Given the description of an element on the screen output the (x, y) to click on. 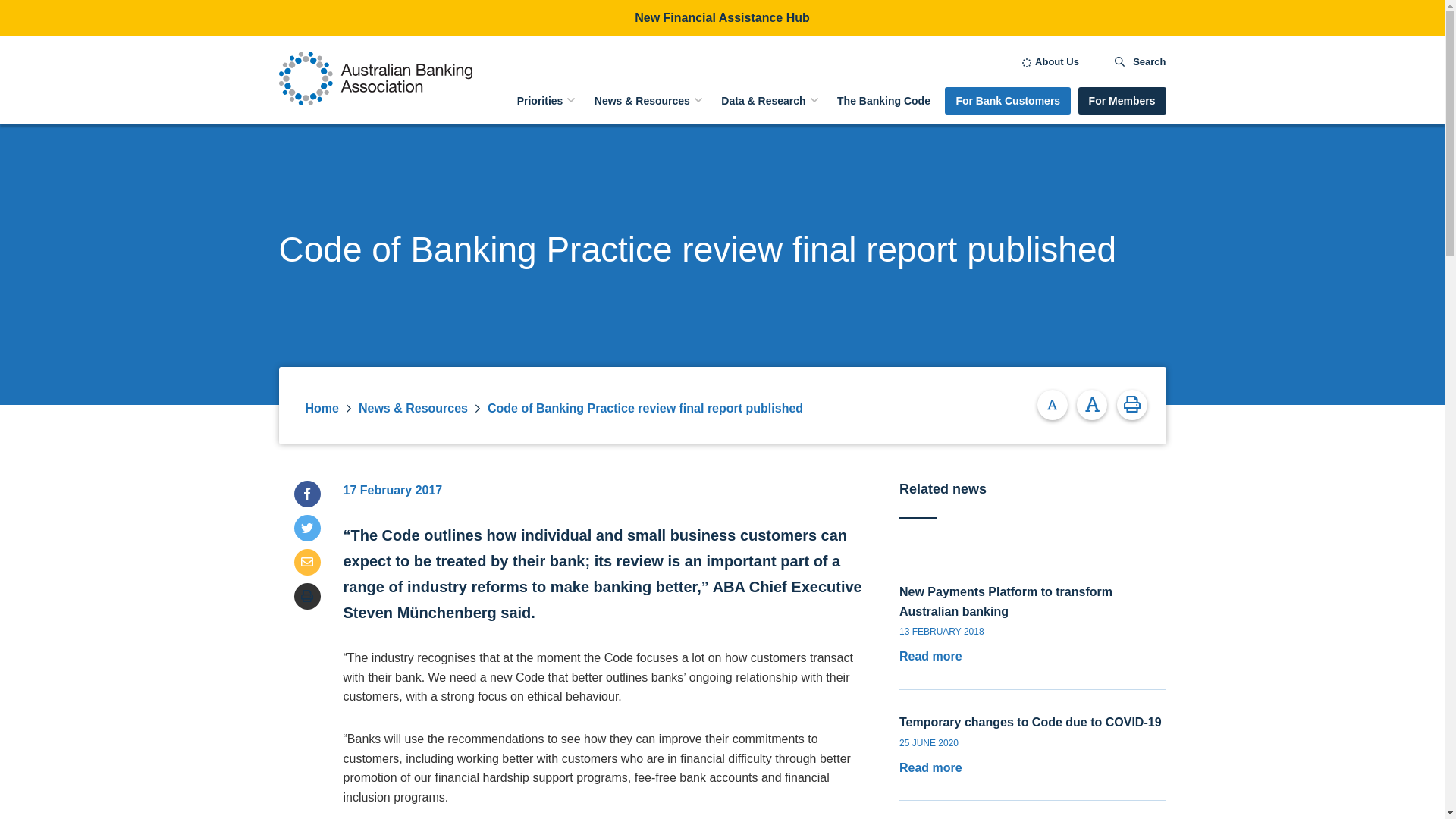
About Us (1050, 61)
New Payments Platform to transform Australian banking (1005, 601)
The Banking Code (883, 102)
Temporary changes to Code due to COVID-19 (1030, 721)
Priorities (539, 102)
For Bank Customers (1007, 100)
For Members (1122, 100)
